Given the description of an element on the screen output the (x, y) to click on. 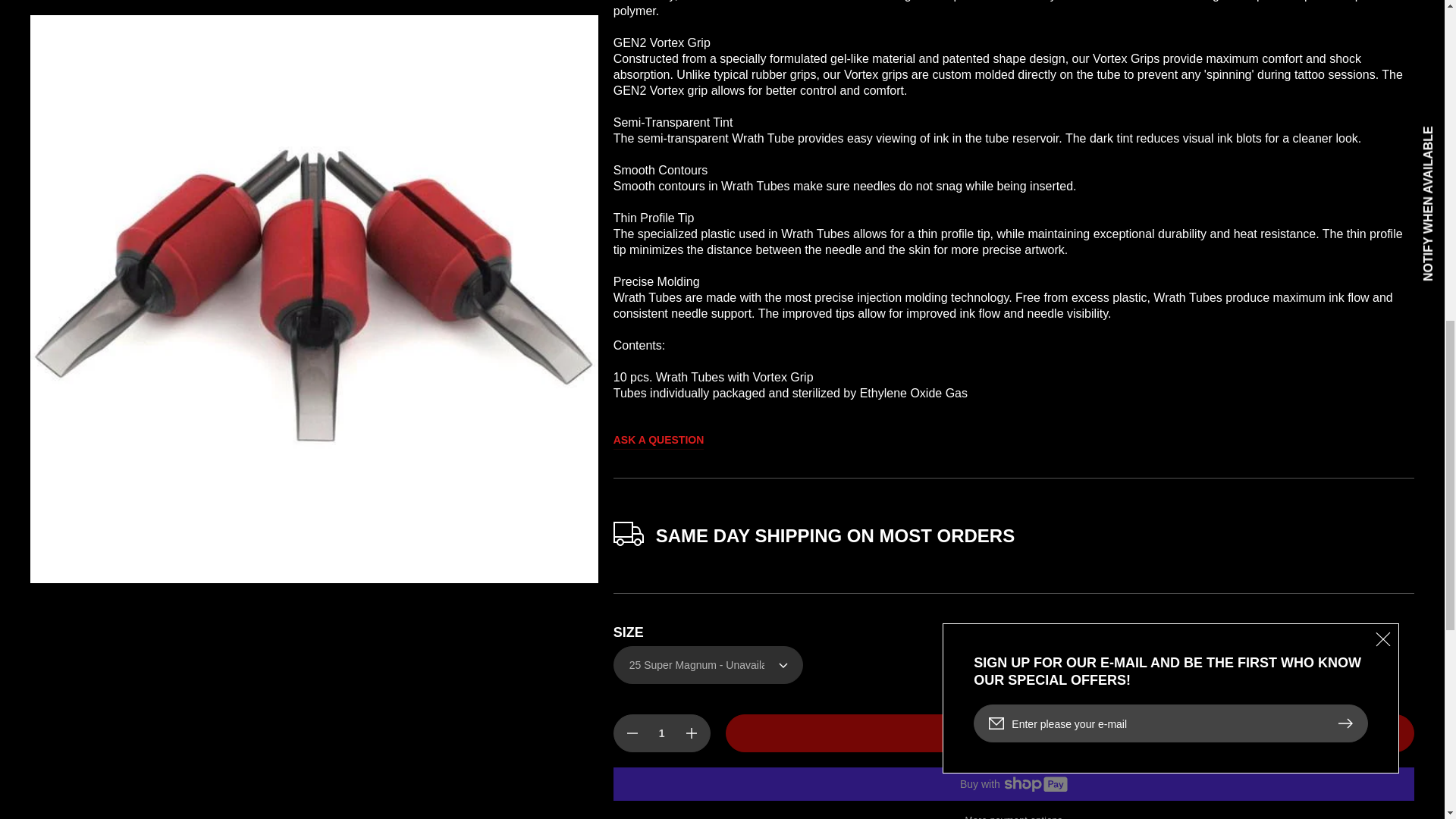
1 (661, 718)
